Given the description of an element on the screen output the (x, y) to click on. 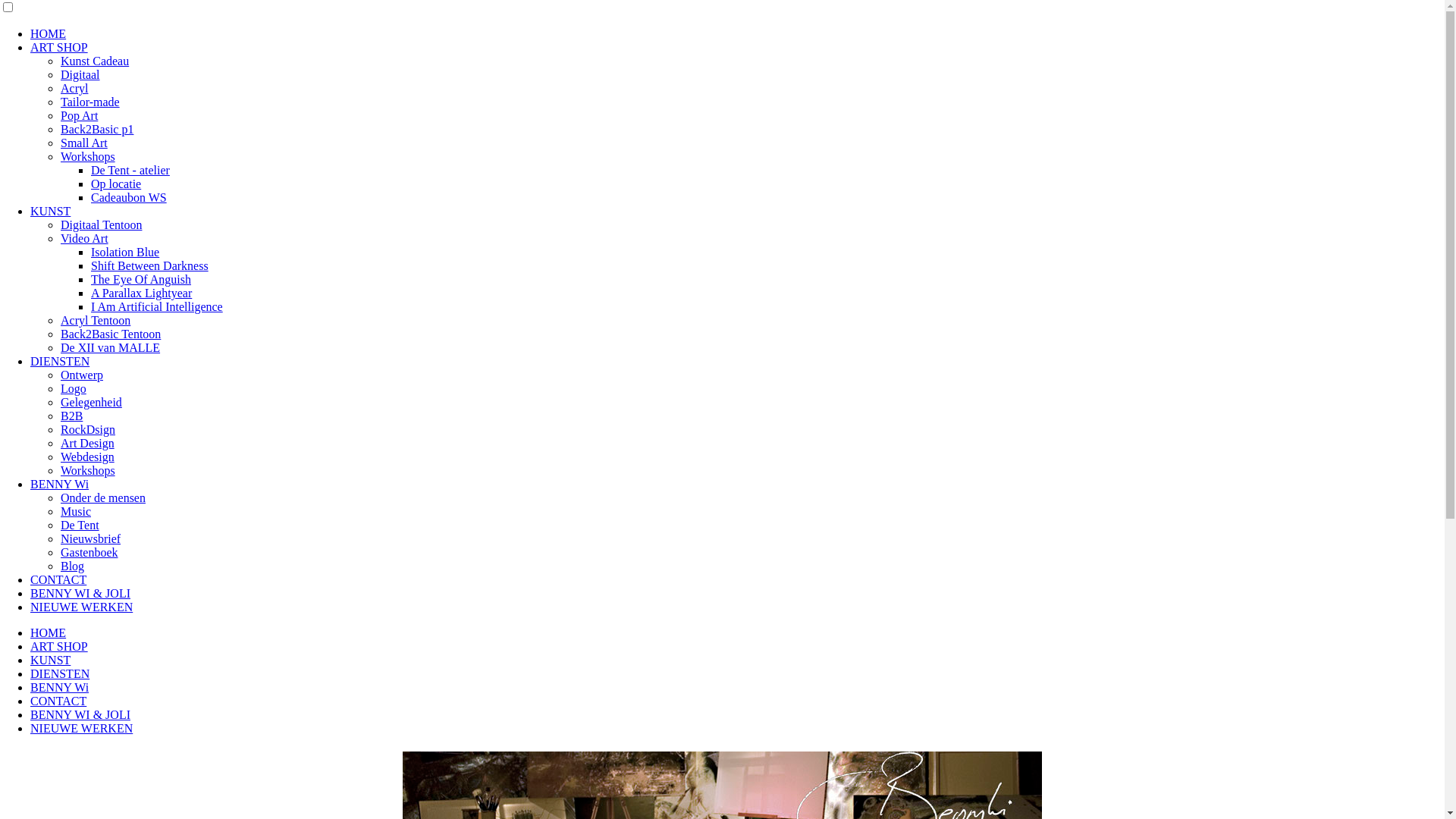
The Eye Of Anguish Element type: text (141, 279)
BENNY WI & JOLI Element type: text (80, 714)
De Tent Element type: text (79, 524)
KUNST Element type: text (50, 659)
Workshops Element type: text (87, 156)
BENNY Wi Element type: text (59, 483)
Acryl Element type: text (73, 87)
De Tent - atelier Element type: text (130, 169)
Small Art Element type: text (83, 142)
Digitaal Tentoon Element type: text (100, 224)
B2B Element type: text (71, 415)
Music Element type: text (75, 511)
KUNST Element type: text (50, 210)
Pop Art Element type: text (78, 115)
Tailor-made Element type: text (89, 101)
BENNY WI & JOLI Element type: text (80, 592)
HOME Element type: text (47, 33)
CONTACT Element type: text (58, 700)
Back2Basic p1 Element type: text (96, 128)
BENNY Wi Element type: text (59, 686)
RockDsign Element type: text (87, 429)
ART SHOP Element type: text (58, 46)
Blog Element type: text (72, 565)
Isolation Blue Element type: text (125, 251)
Video Art Element type: text (84, 238)
Shift Between Darkness Element type: text (149, 265)
NIEUWE WERKEN Element type: text (81, 606)
Kunst Cadeau Element type: text (94, 60)
Webdesign Element type: text (87, 456)
Onder de mensen Element type: text (102, 497)
Acryl Tentoon Element type: text (95, 319)
Cadeaubon WS Element type: text (128, 197)
Gelegenheid Element type: text (91, 401)
Gastenboek Element type: text (89, 552)
De XII van MALLE Element type: text (110, 347)
Digitaal Element type: text (80, 74)
Back2Basic Tentoon Element type: text (110, 333)
CONTACT Element type: text (58, 579)
Ontwerp Element type: text (81, 374)
ART SHOP Element type: text (58, 646)
Workshops Element type: text (87, 470)
DIENSTEN Element type: text (59, 360)
NIEUWE WERKEN Element type: text (81, 727)
Nieuwsbrief Element type: text (90, 538)
DIENSTEN Element type: text (59, 673)
I Am Artificial Intelligence Element type: text (156, 306)
HOME Element type: text (47, 632)
Art Design Element type: text (87, 442)
A Parallax Lightyear Element type: text (141, 292)
Logo Element type: text (73, 388)
Op locatie Element type: text (116, 183)
